Given the description of an element on the screen output the (x, y) to click on. 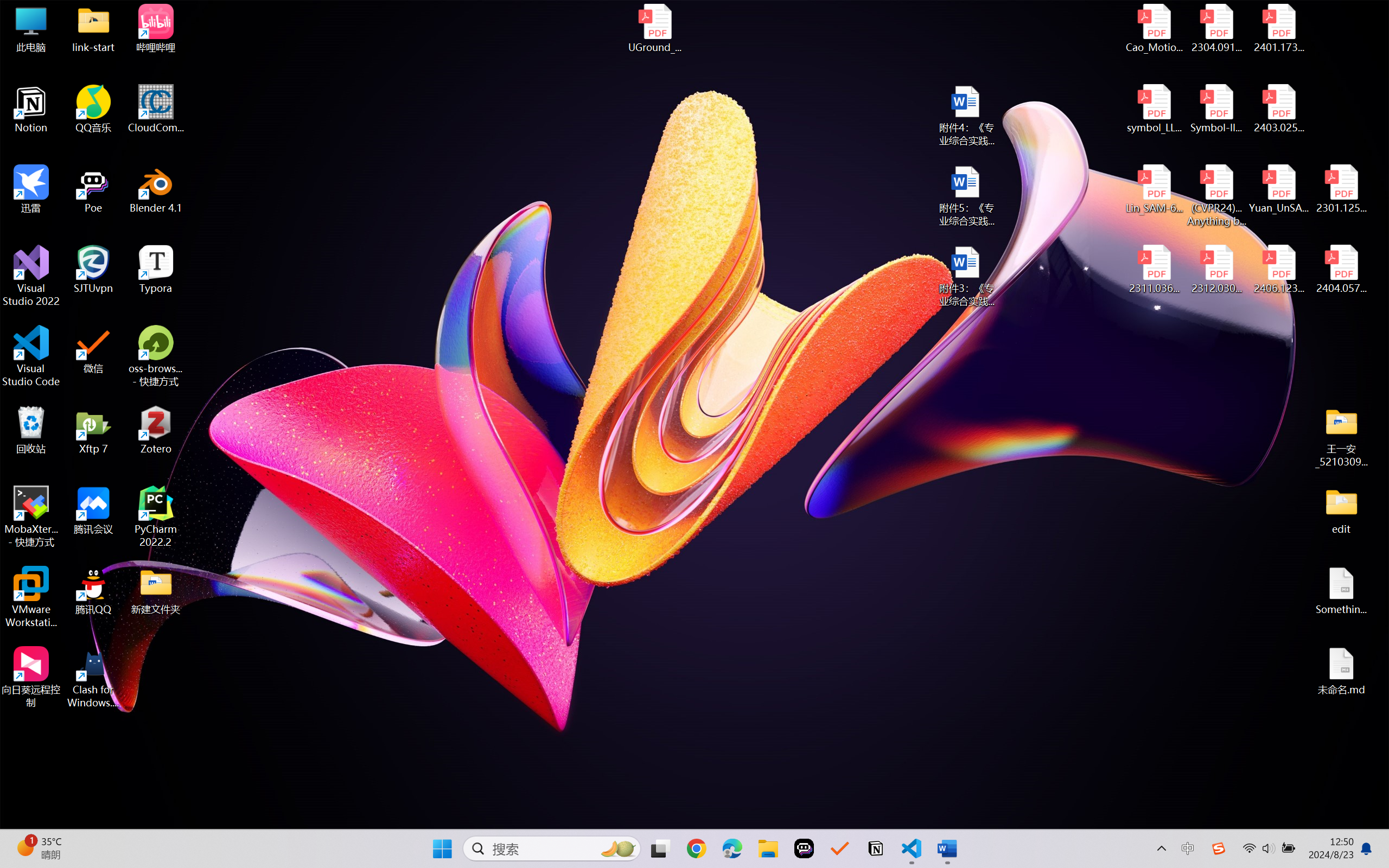
edit (1340, 510)
2311.03658v2.pdf (1154, 269)
2301.12597v3.pdf (1340, 189)
